Given the description of an element on the screen output the (x, y) to click on. 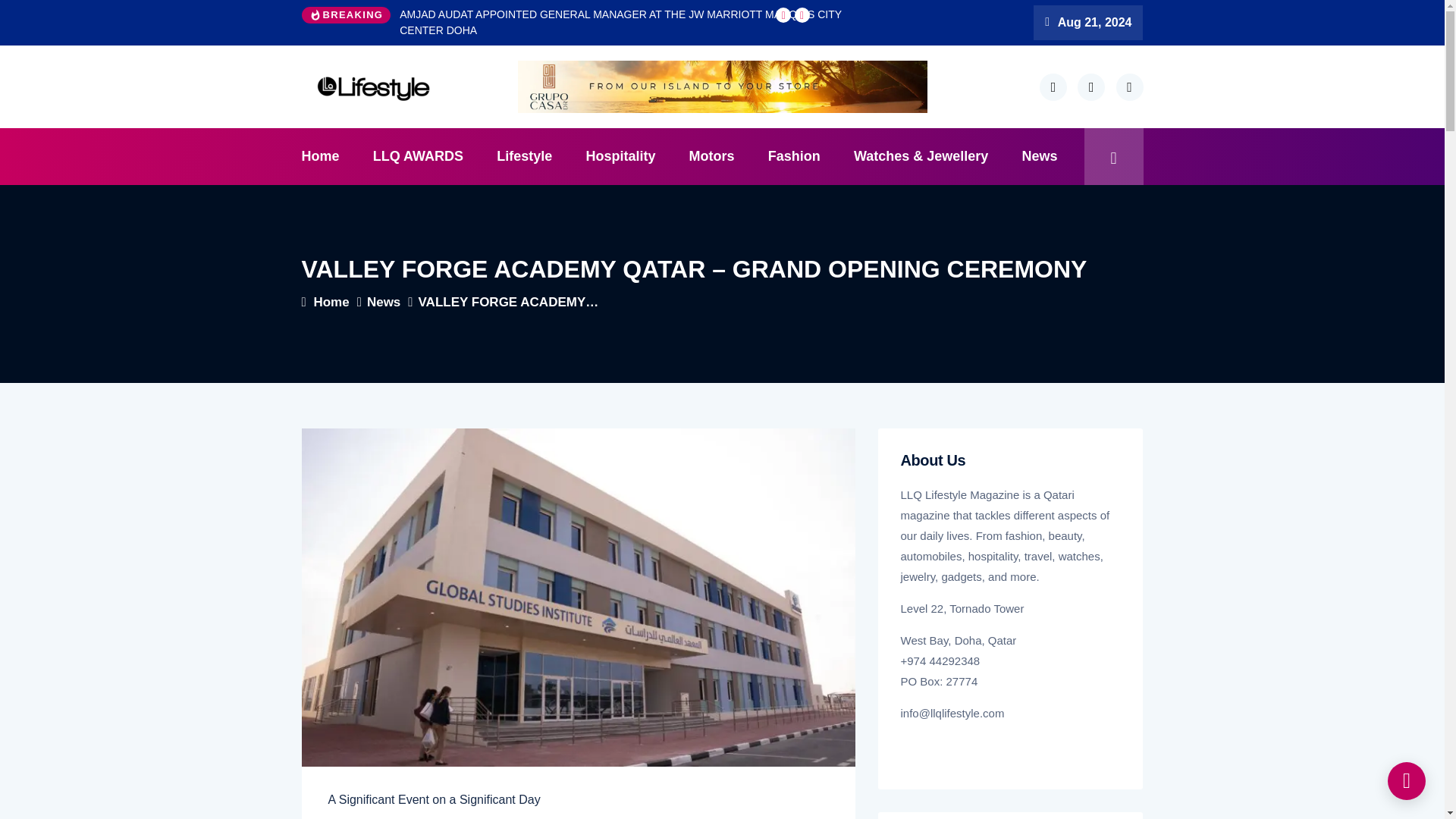
News (1040, 156)
Hospitality (619, 156)
Lifestyle (524, 156)
LLQ AWARDS (418, 156)
Home (328, 156)
Fashion (793, 156)
Home (334, 301)
News (386, 301)
Motors (711, 156)
